Given the description of an element on the screen output the (x, y) to click on. 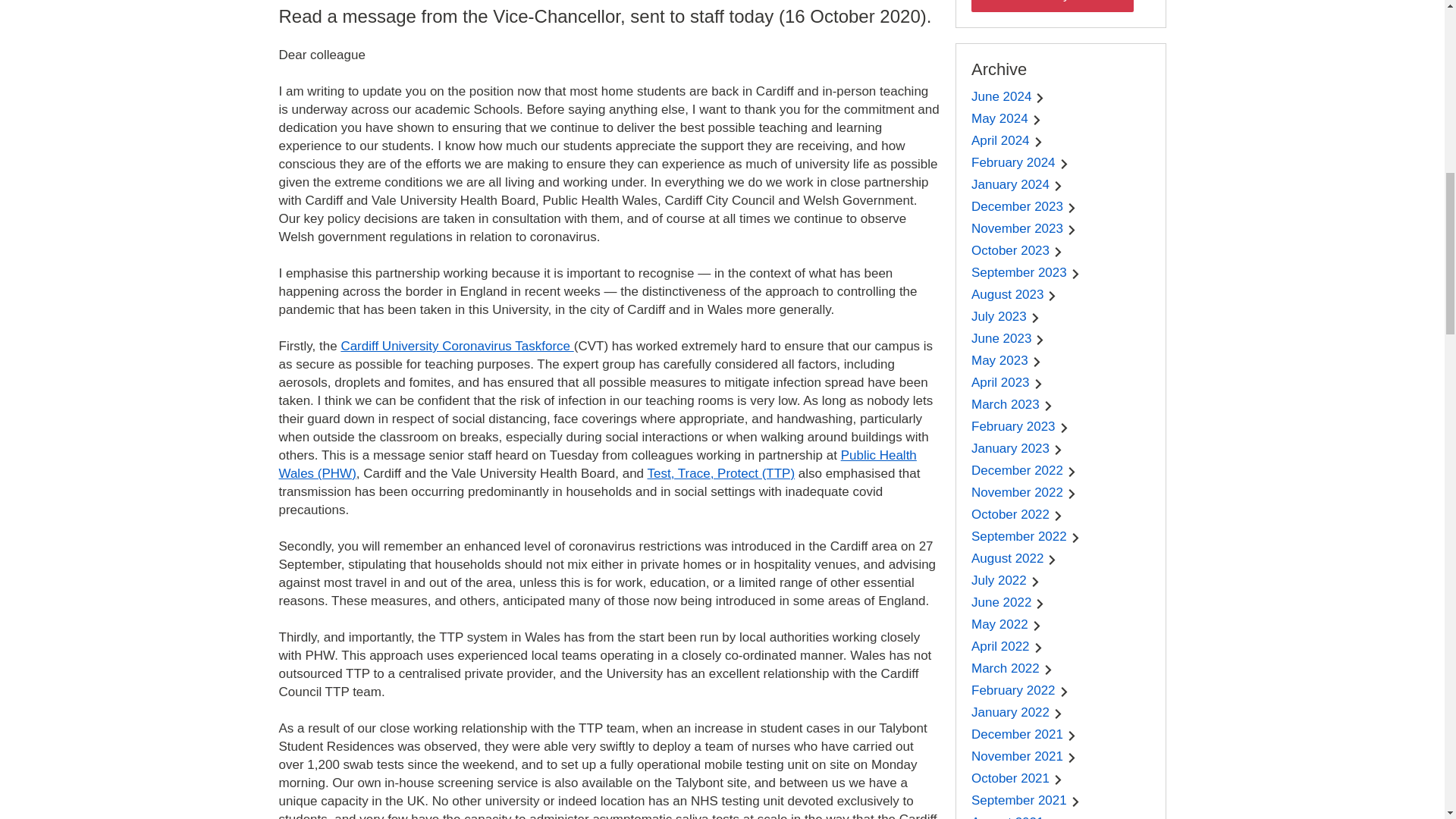
Chevron right (1072, 207)
Chevron right (1051, 296)
Chevron right (1063, 163)
Chevron right (1075, 273)
Chevron right (1072, 229)
Chevron right (1057, 252)
Chevron right (1038, 141)
Chevron right (1040, 339)
Chevron right (1037, 120)
Chevron right (1037, 361)
Chevron right (1040, 97)
Chevron right (1035, 317)
Chevron right (1057, 185)
